Given the description of an element on the screen output the (x, y) to click on. 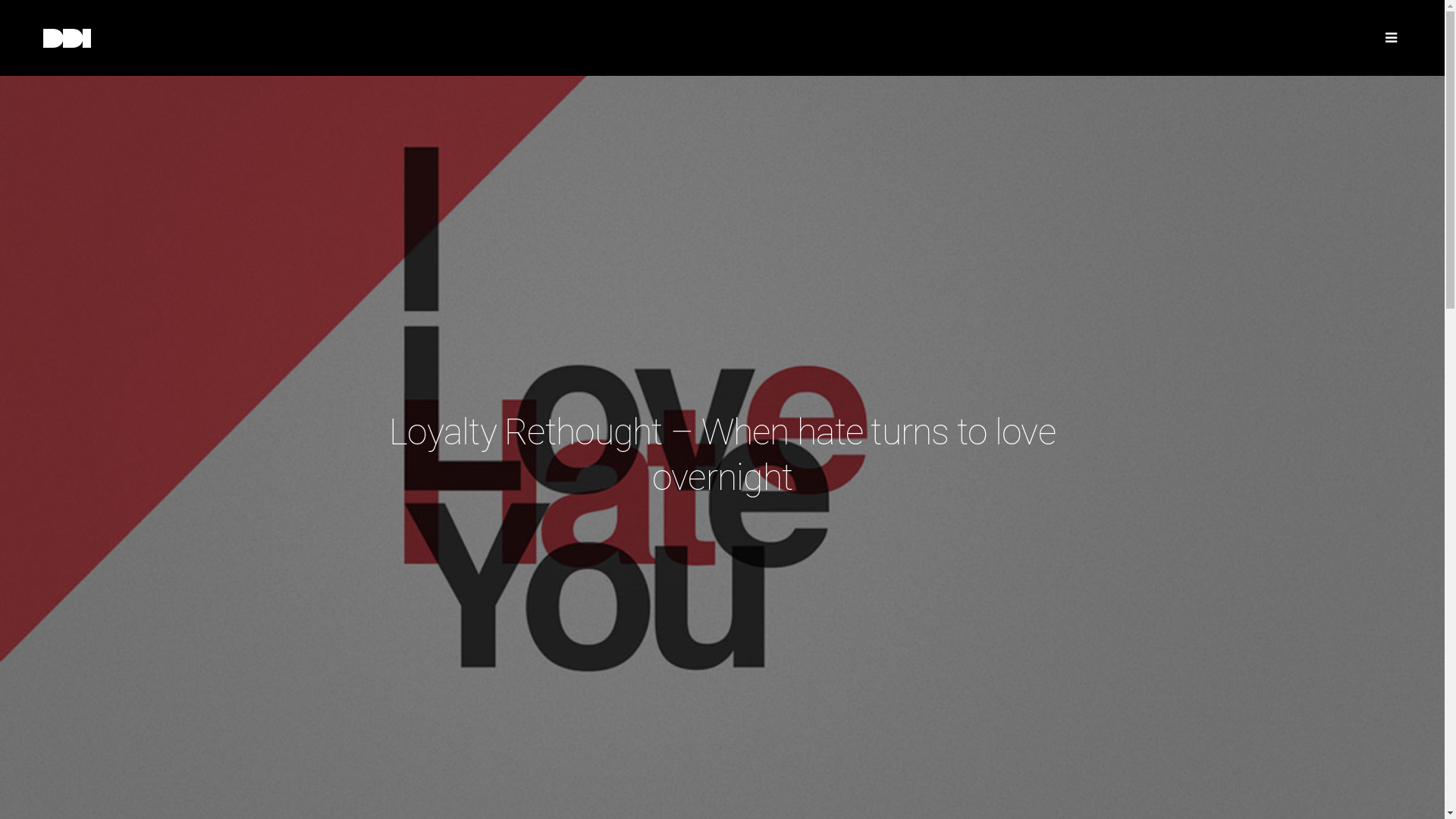
DDI Element type: hover (178, 37)
